Given the description of an element on the screen output the (x, y) to click on. 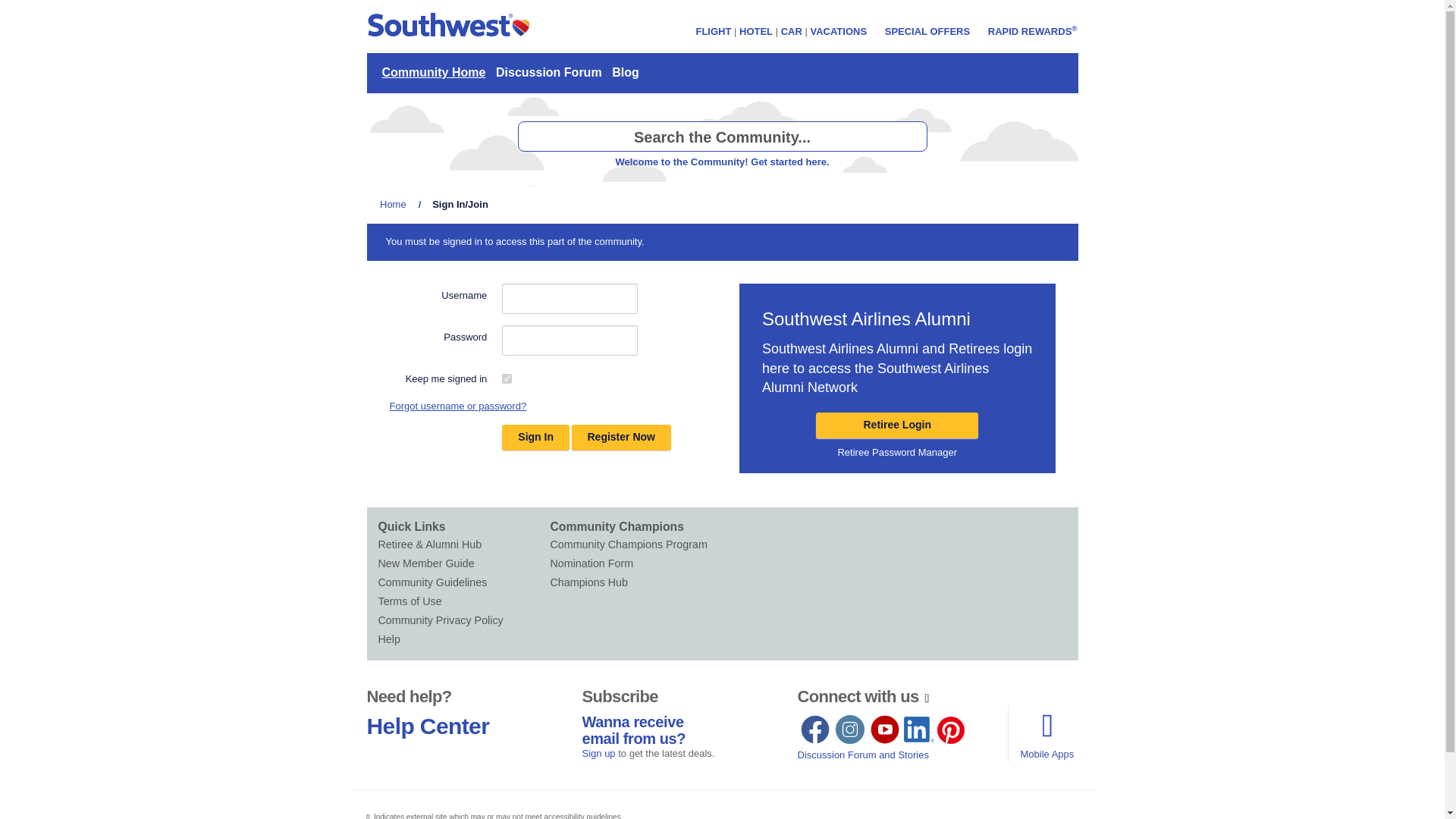
Home (393, 204)
Help (463, 639)
FLIGHT (712, 30)
Nomination Form (636, 563)
Search (911, 136)
HOTEL (756, 30)
VACATIONS (837, 30)
Retiree Login (896, 425)
Search (911, 136)
SPECIAL OFFERS (927, 30)
Champions Hub (636, 582)
Community Guidelines (463, 582)
Welcome to the Community! Get started here. (721, 161)
Search (911, 136)
Register Now (621, 437)
